Given the description of an element on the screen output the (x, y) to click on. 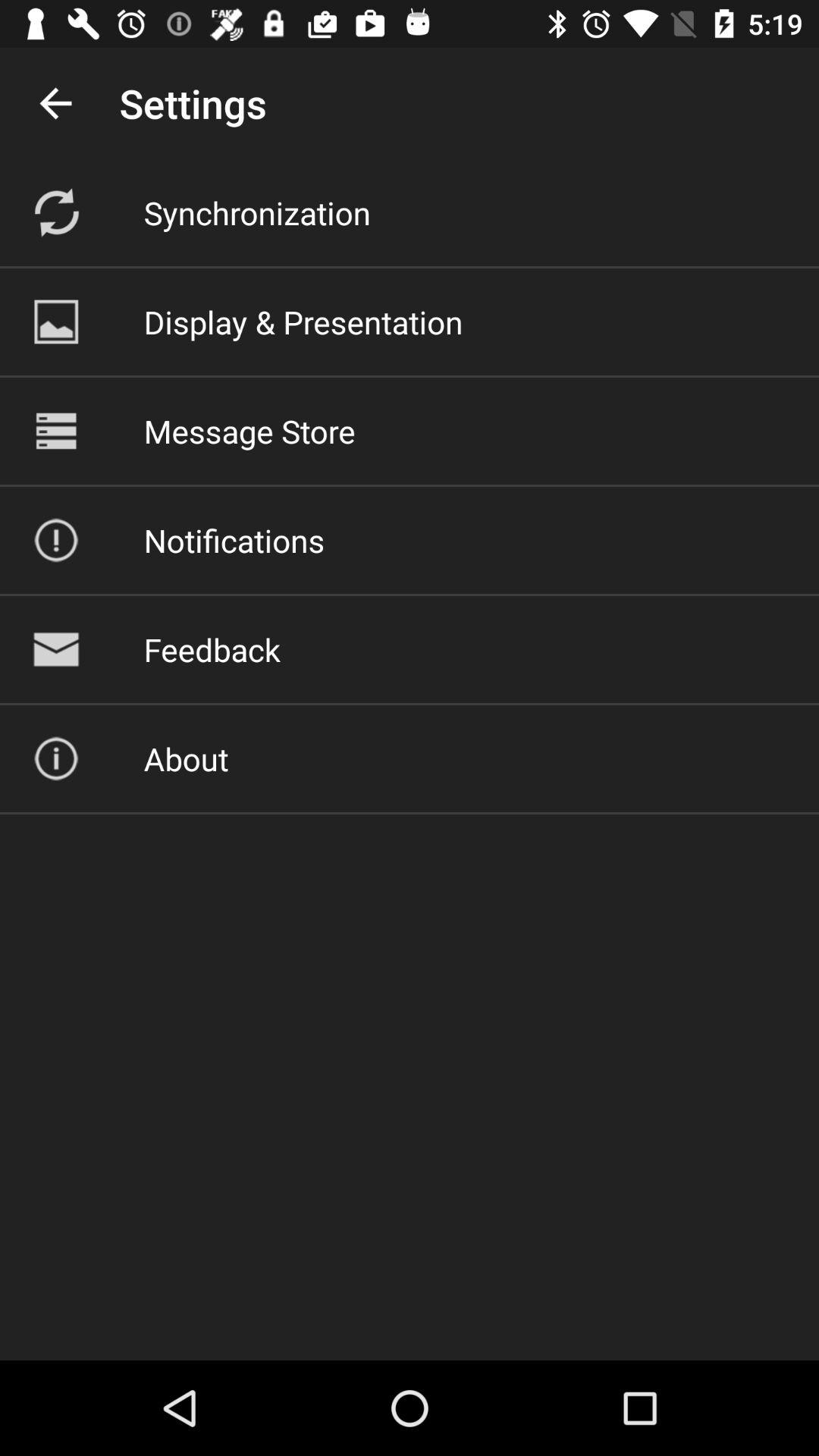
click item above the notifications (249, 430)
